Given the description of an element on the screen output the (x, y) to click on. 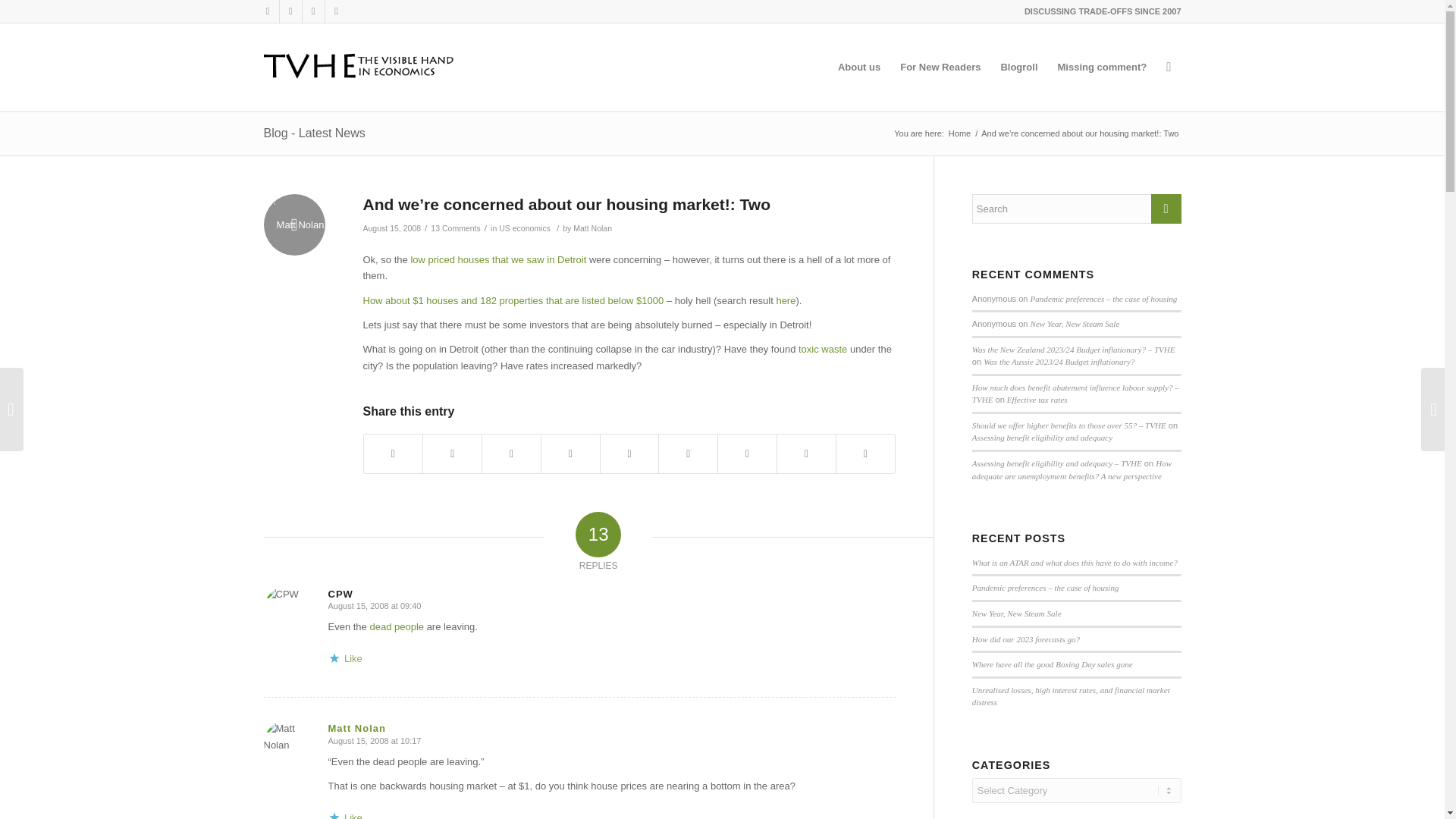
dead people (396, 626)
Mail (335, 11)
Matt Nolan (592, 227)
Home (959, 133)
low priced houses that we saw in Detroit (498, 259)
August 15, 2008 at 09:40 (373, 605)
Facebook (290, 11)
Permanent Link: Blog - Latest News (314, 132)
For New Readers (939, 67)
Rss (312, 11)
Twitter (267, 11)
here (785, 299)
Matt Nolan (356, 727)
Posts by Matt Nolan (592, 227)
13 Comments (455, 227)
